Given the description of an element on the screen output the (x, y) to click on. 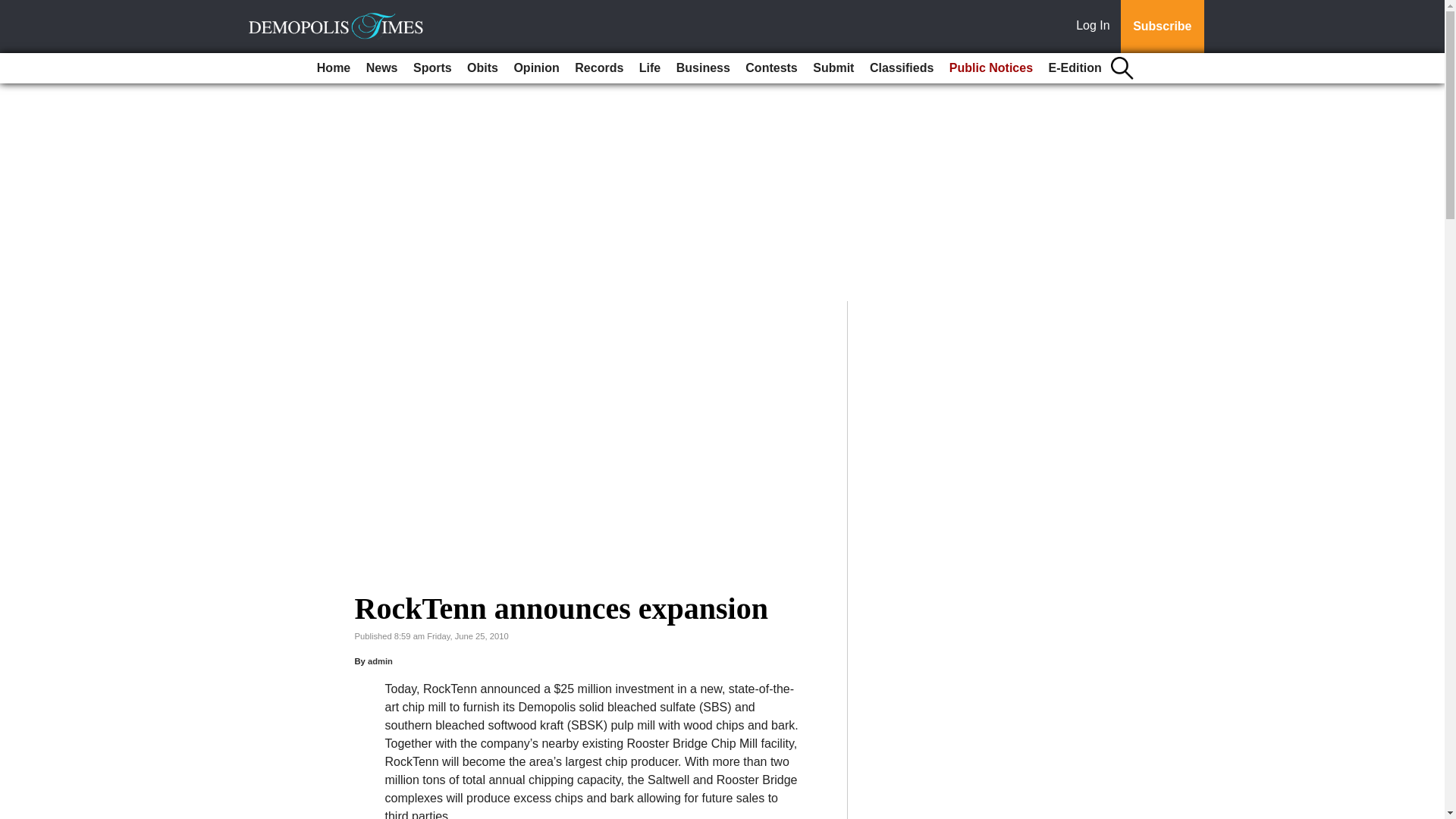
Log In (1095, 26)
Life (649, 68)
E-Edition (1075, 68)
Public Notices (991, 68)
Records (598, 68)
Sports (432, 68)
Contests (771, 68)
Business (702, 68)
Submit (833, 68)
News (381, 68)
Go (13, 9)
admin (380, 660)
Subscribe (1162, 26)
Classifieds (901, 68)
Obits (482, 68)
